Given the description of an element on the screen output the (x, y) to click on. 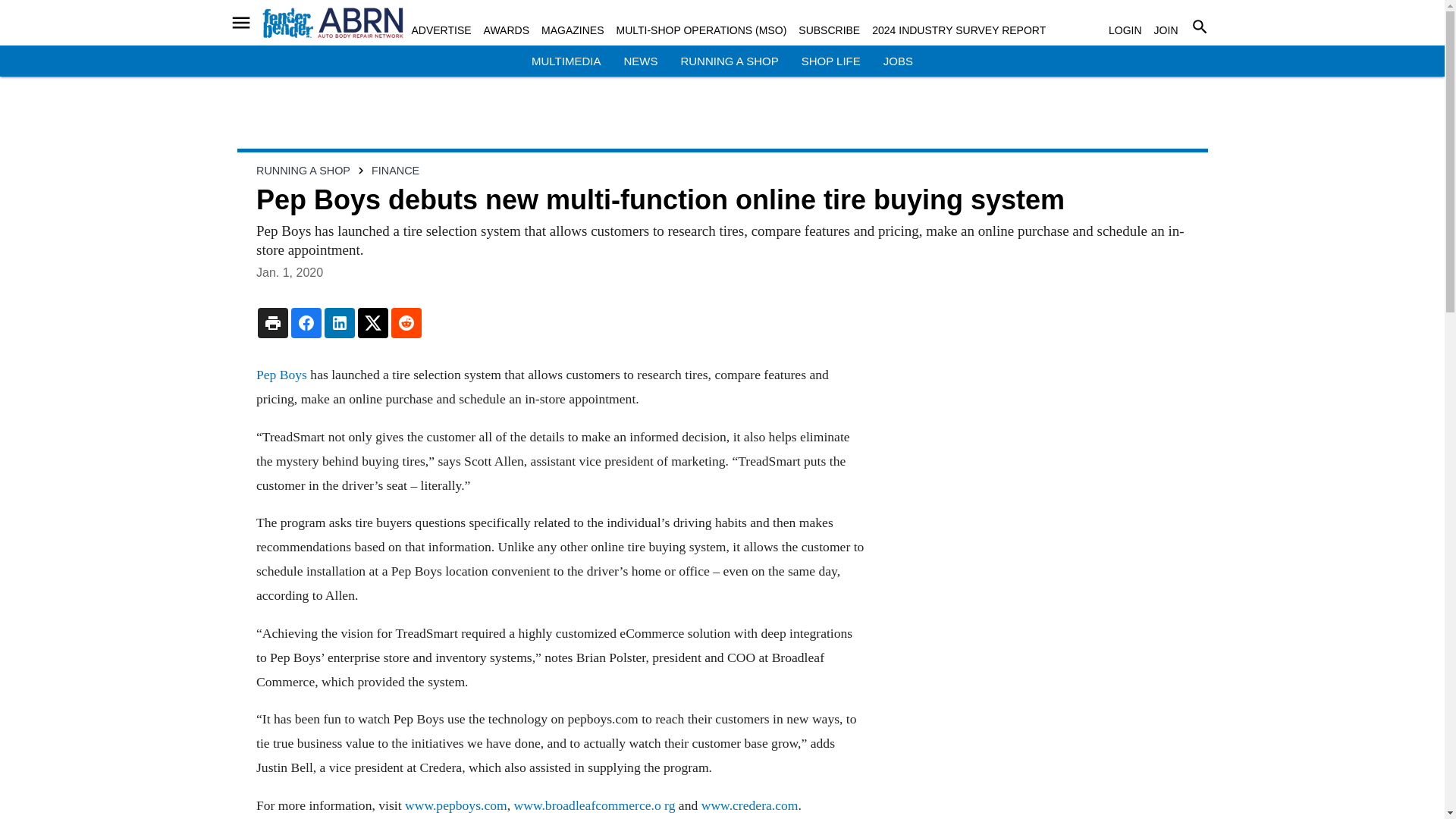
SUBSCRIBE (828, 30)
JOBS (897, 60)
ADVERTISE (440, 30)
JOIN (1165, 30)
NEWS (640, 60)
AWARDS (506, 30)
MULTIMEDIA (565, 60)
MAGAZINES (572, 30)
RUNNING A SHOP (728, 60)
LOGIN (1124, 30)
